Given the description of an element on the screen output the (x, y) to click on. 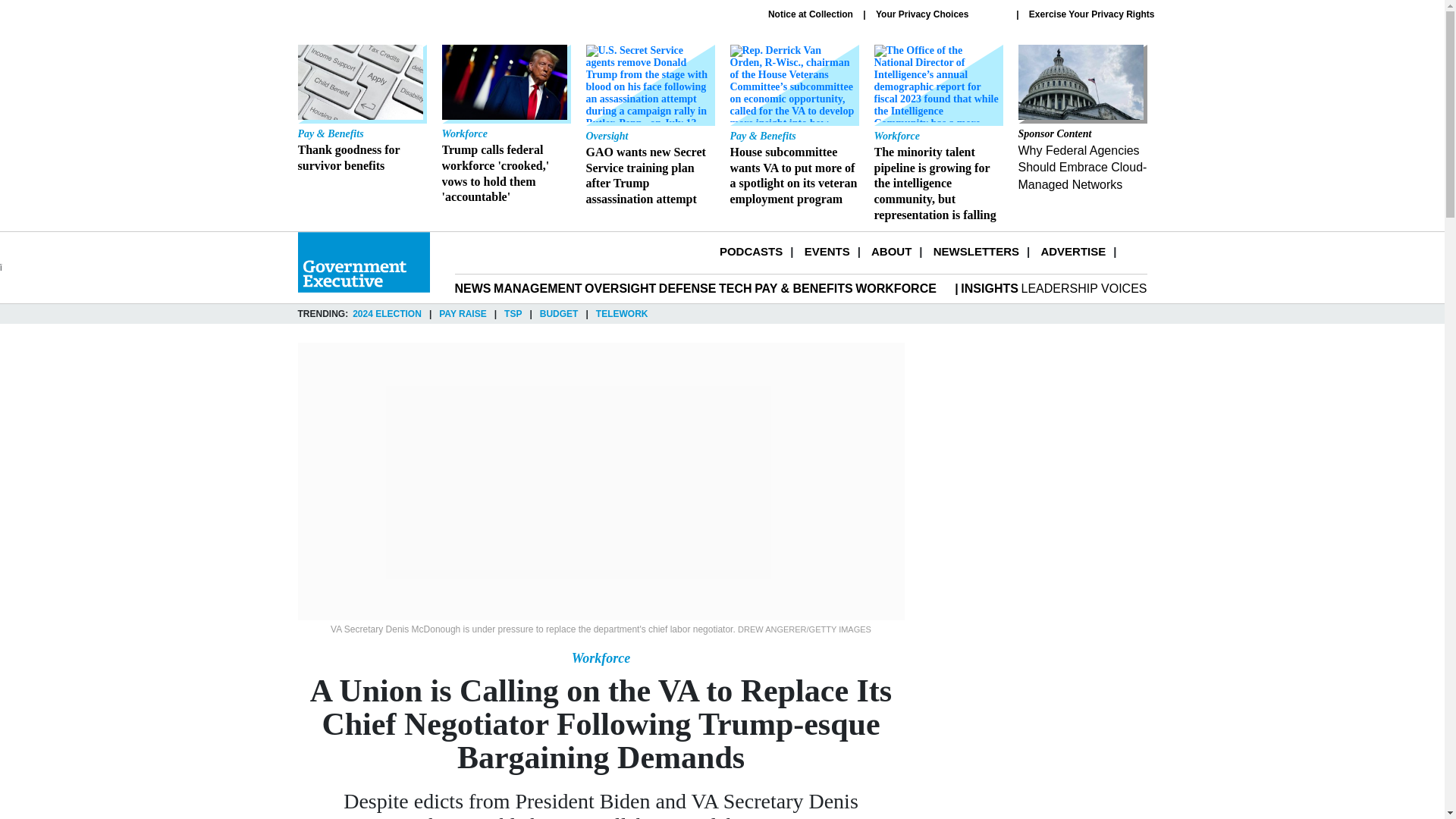
ADVERTISE (1073, 250)
EVENTS (827, 250)
PODCASTS (751, 250)
NEWSLETTERS (976, 250)
ABOUT (890, 250)
Your Privacy Choices (941, 14)
Notice at Collection (810, 14)
Exercise Your Privacy Rights (1091, 14)
